Given the description of an element on the screen output the (x, y) to click on. 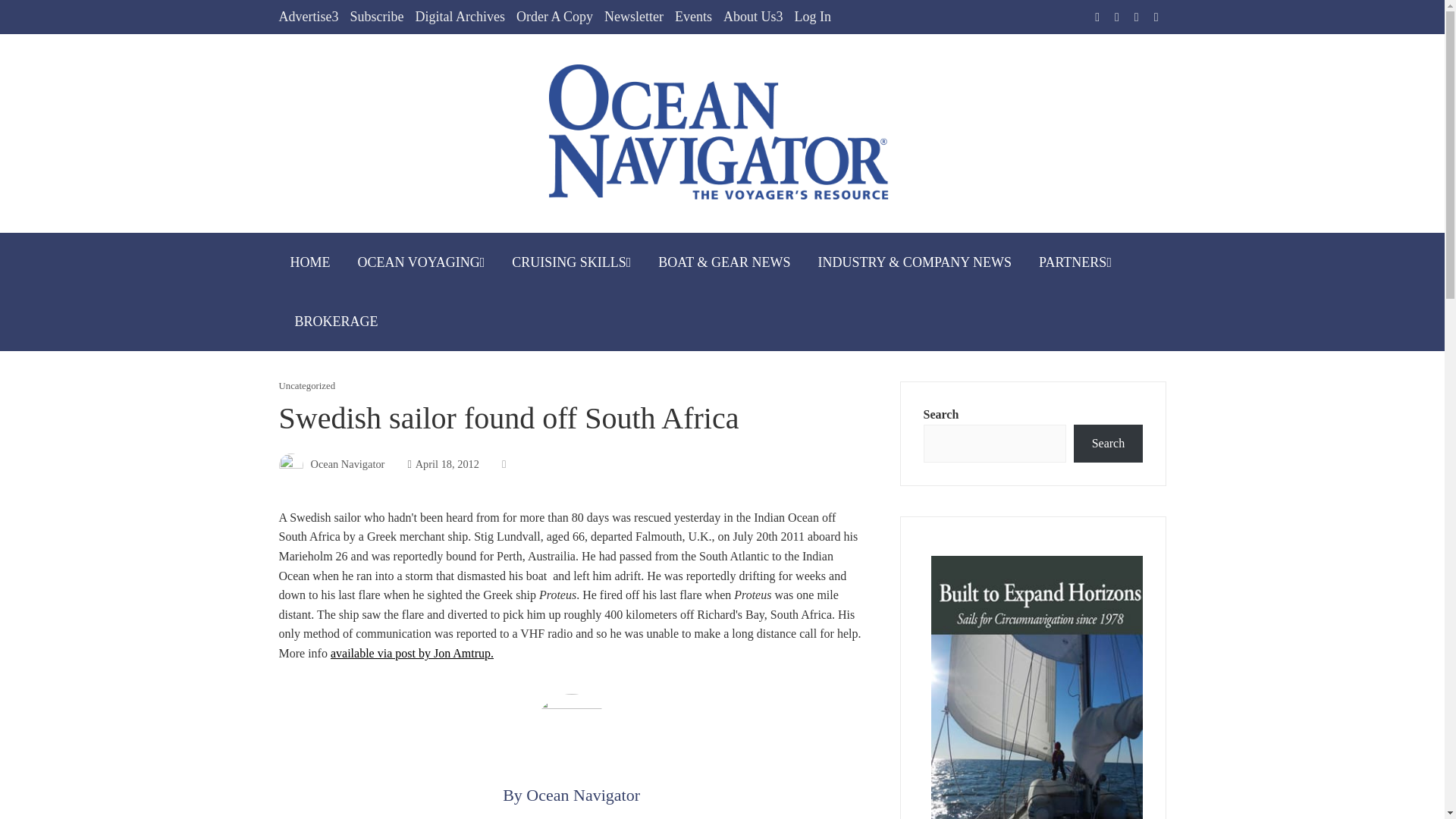
OCEAN VOYAGING (421, 261)
PARTNERS (1074, 261)
Log In (812, 17)
Advertise (309, 17)
Order A Copy (554, 17)
CRUISING SKILLS (571, 261)
Events (693, 17)
Newsletter (633, 17)
HOME (310, 261)
About Us (753, 17)
Digital Archives (458, 17)
Subscribe (376, 17)
